Given the description of an element on the screen output the (x, y) to click on. 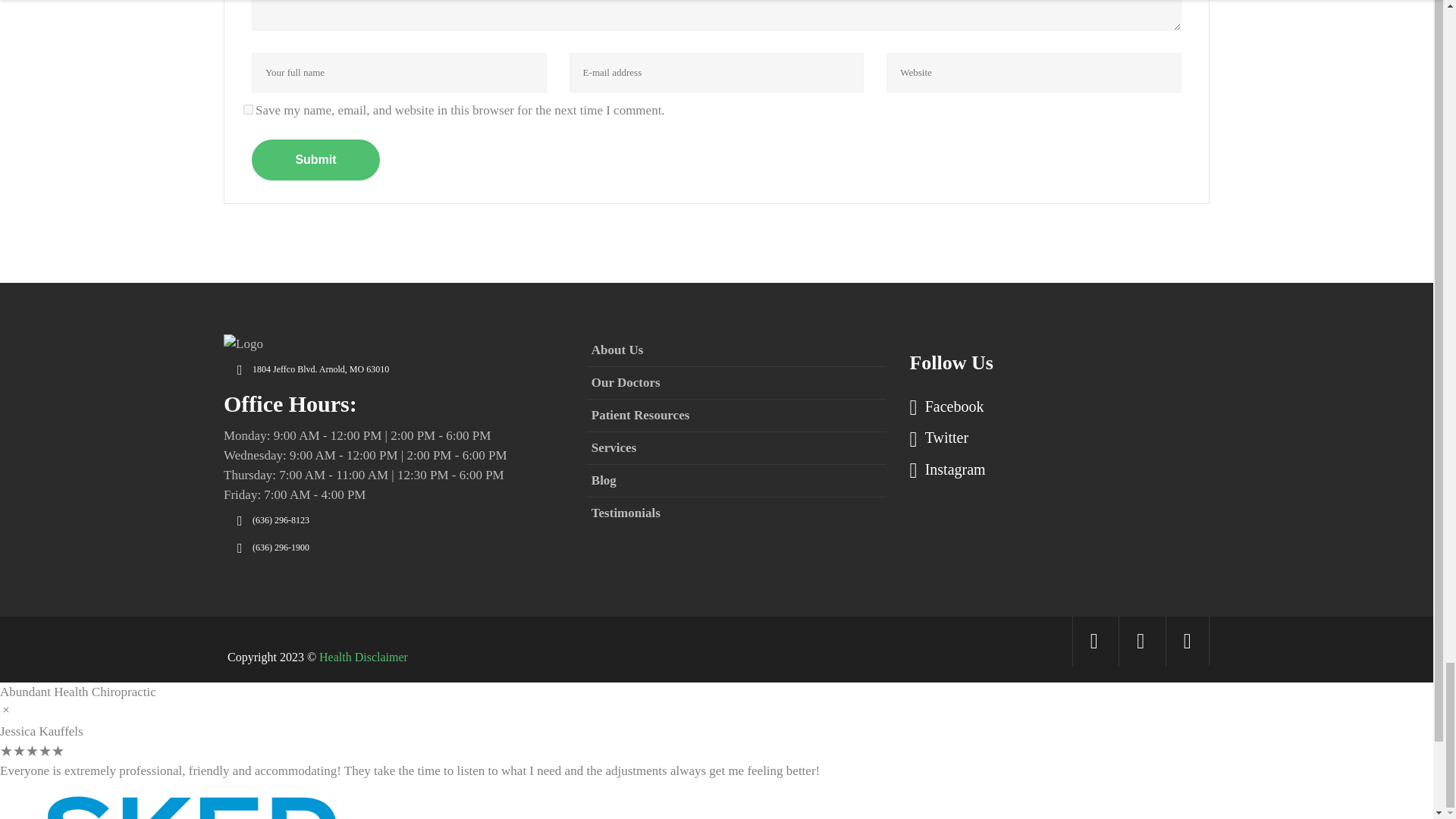
yes (248, 109)
Submit (315, 159)
